Given the description of an element on the screen output the (x, y) to click on. 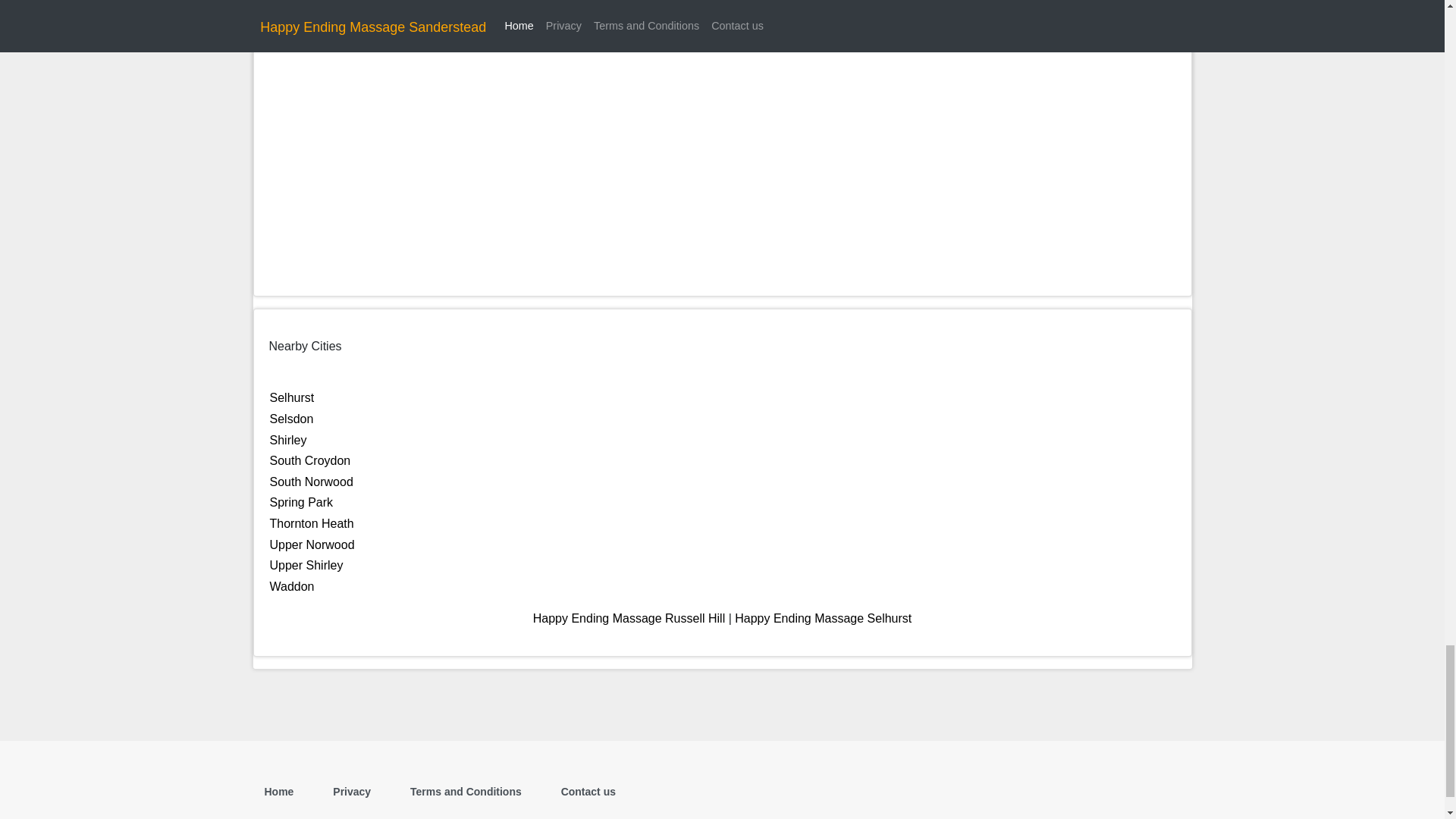
Spring Park (301, 502)
Happy Ending Massage Russell Hill (628, 617)
Upper Norwood (312, 544)
Shirley (288, 440)
South Croydon (309, 460)
Waddon (291, 585)
Upper Shirley (306, 564)
Happy Ending Massage Selhurst (823, 617)
Selhurst (291, 397)
Thornton Heath (311, 522)
